Given the description of an element on the screen output the (x, y) to click on. 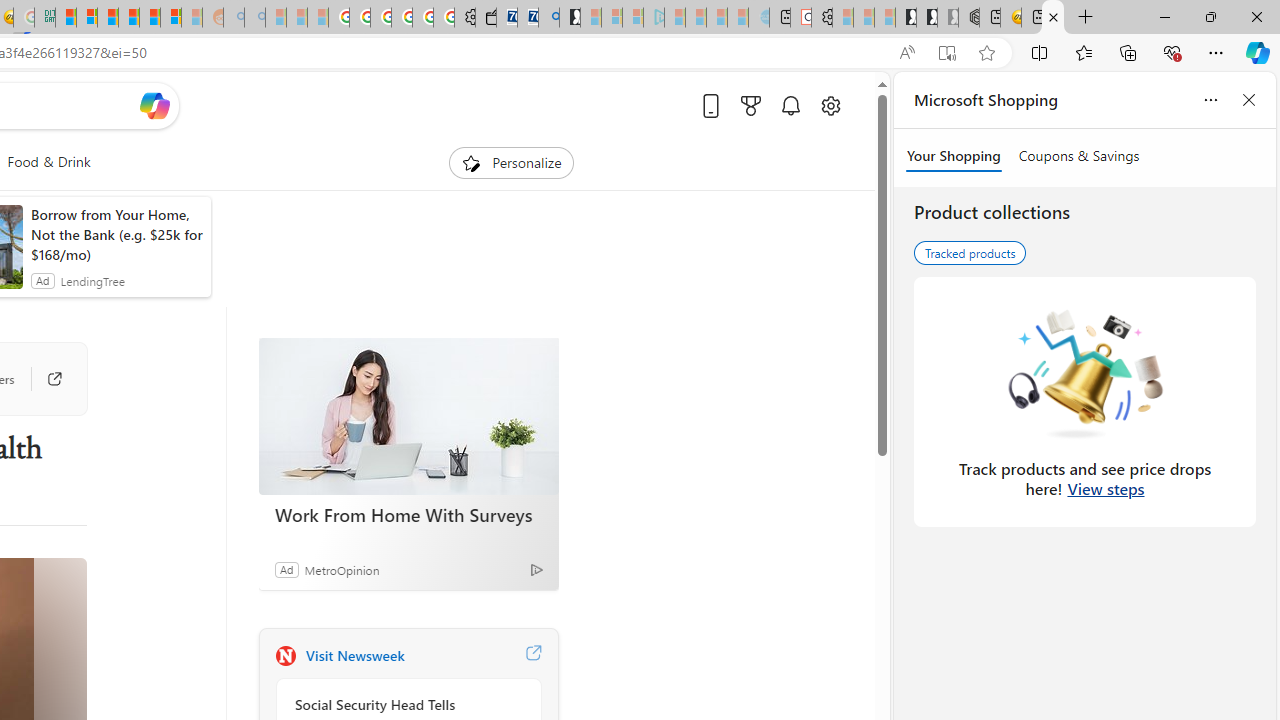
Ad Choice (535, 569)
MSNBC - MSN (65, 17)
Work From Home With Surveys (407, 515)
Minimize (1164, 16)
Microsoft account | Privacy - Sleeping (632, 17)
Bing Real Estate - Home sales and rental listings (548, 17)
Settings (821, 17)
Home | Sky Blue Bikes - Sky Blue Bikes - Sleeping (758, 17)
Close (1256, 16)
Open settings (830, 105)
